Given the description of an element on the screen output the (x, y) to click on. 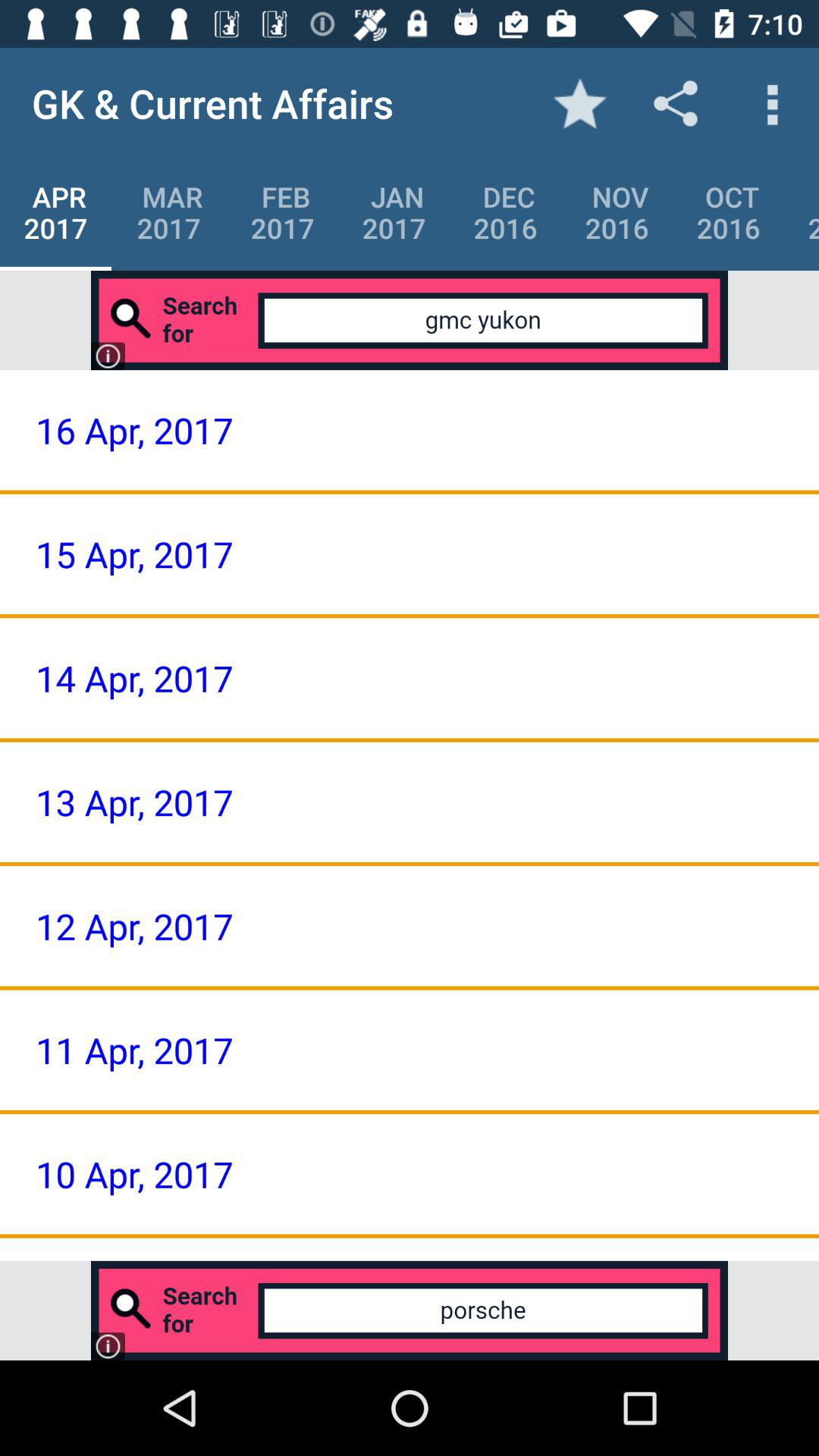
press item below the gk & current affairs (282, 212)
